Given the description of an element on the screen output the (x, y) to click on. 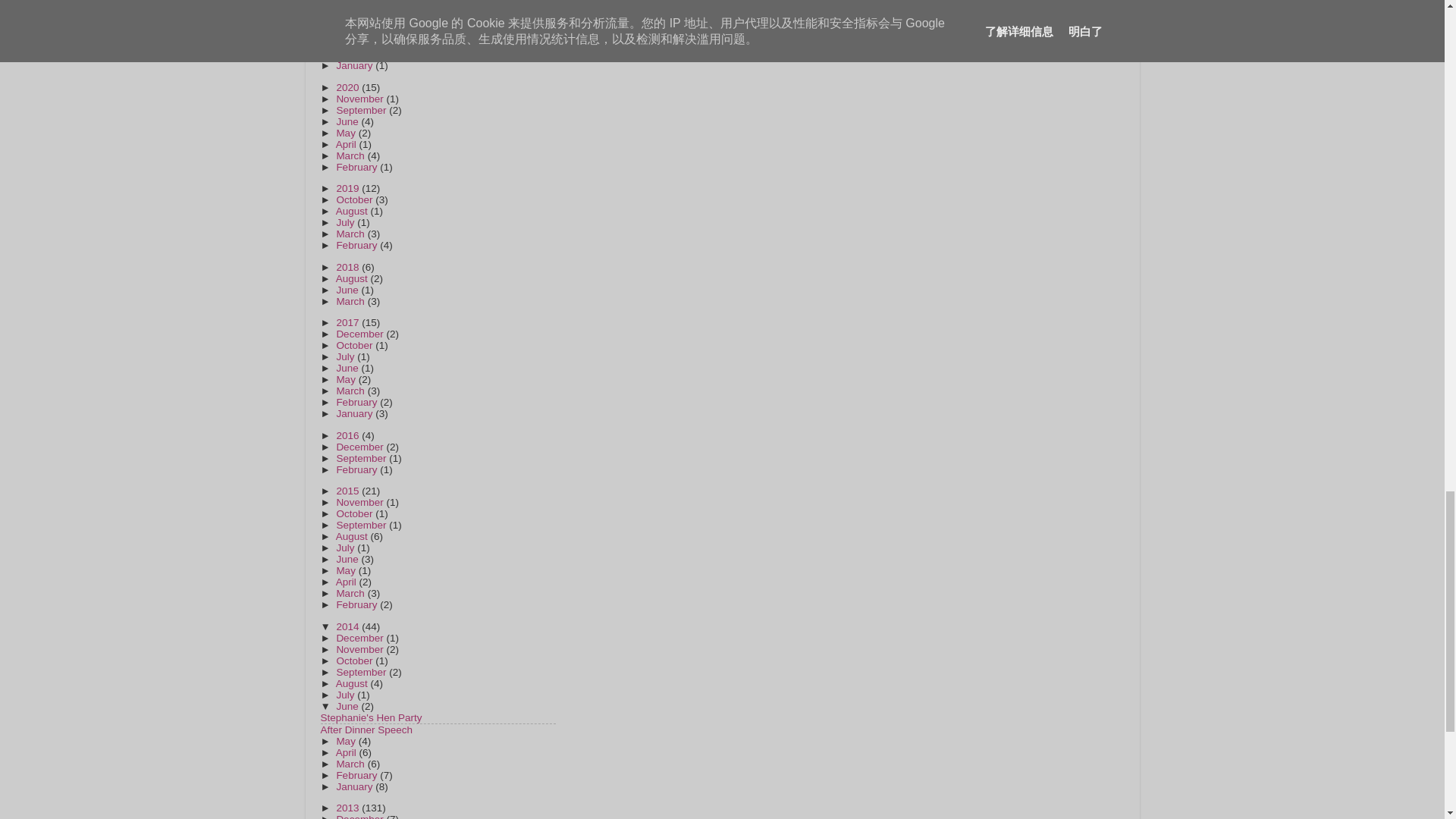
September (362, 9)
2022 (348, 2)
January (355, 65)
April (347, 53)
August (353, 42)
2020 (348, 87)
2021 (348, 30)
